Given the description of an element on the screen output the (x, y) to click on. 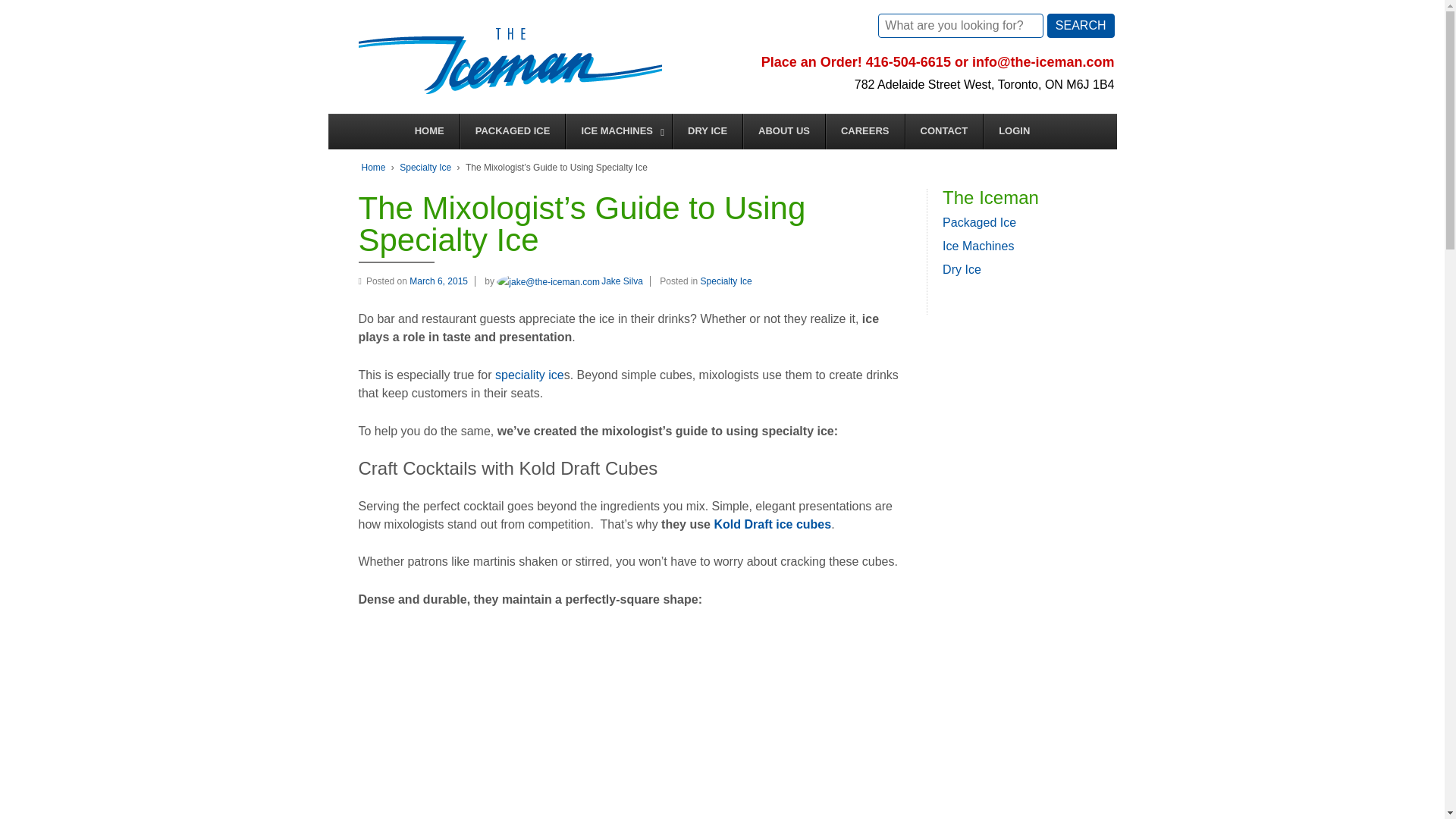
Kold Draft ice cubes (772, 523)
ICE MACHINES (617, 131)
View all posts by Jake Silva (569, 281)
March 6, 2015 (442, 281)
CONTACT (944, 131)
Specialty Ice (726, 281)
DRY ICE (706, 131)
speciality ice (529, 374)
Home (373, 167)
ABOUT US (783, 131)
SEARCH (1080, 25)
Jake Silva (569, 281)
Specialty Ice (424, 167)
LOGIN (1013, 131)
782 Adelaide Street West, Toronto, ON M6J 1B4 (984, 83)
